Given the description of an element on the screen output the (x, y) to click on. 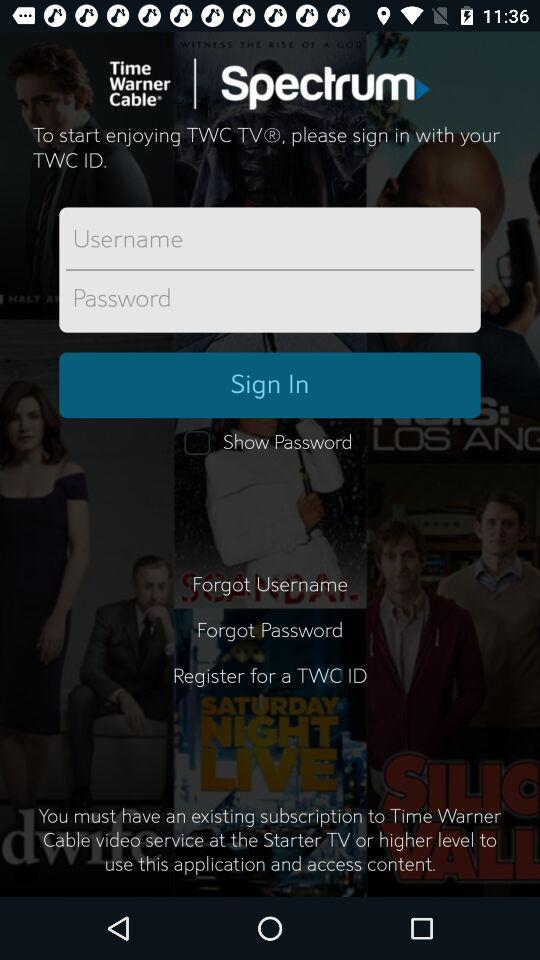
swipe until show password (269, 443)
